Given the description of an element on the screen output the (x, y) to click on. 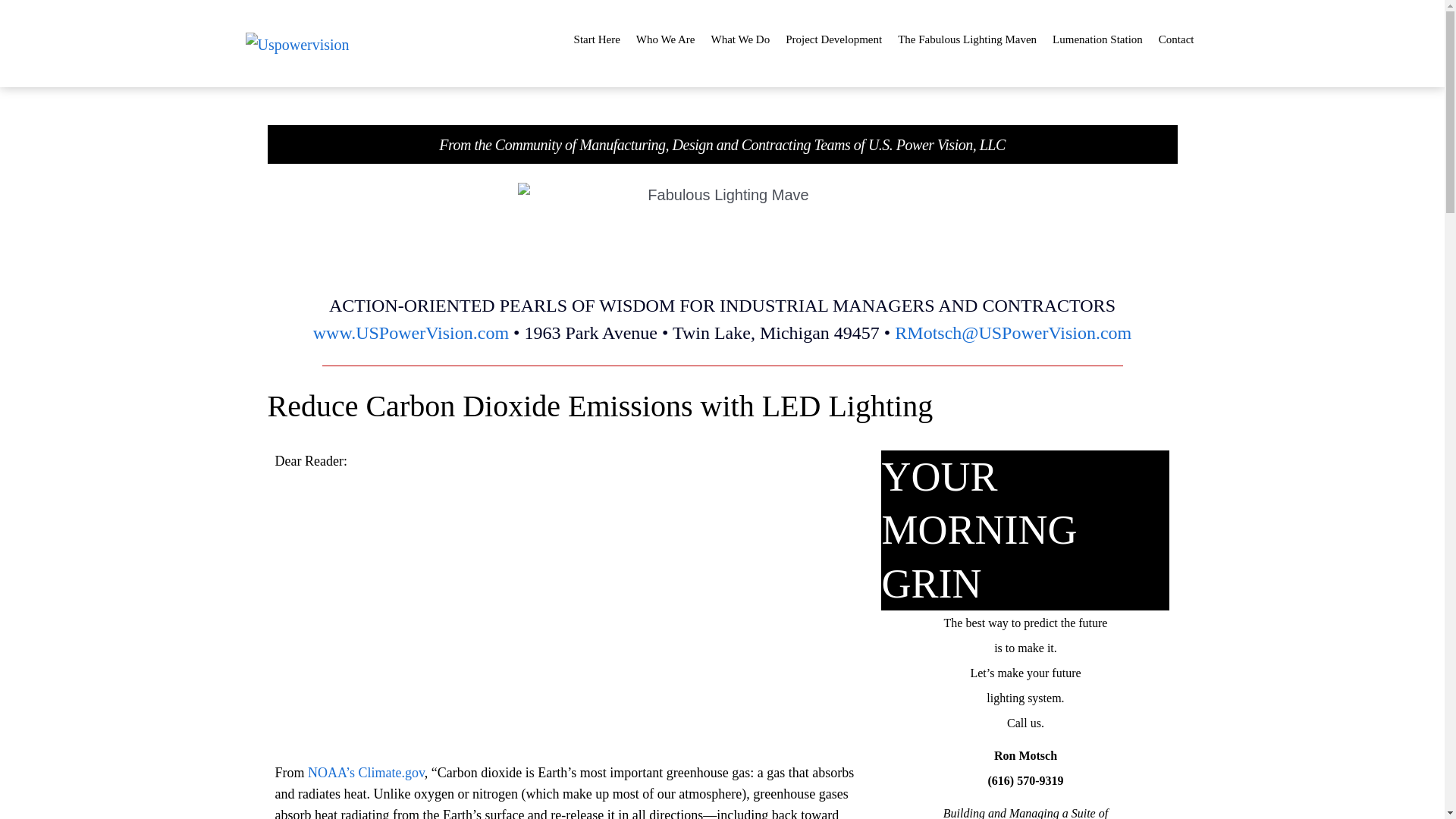
Who We Are (665, 39)
Project Development (833, 39)
What We Do (739, 39)
Lumenation Station (1097, 39)
Contact (1176, 39)
Start Here (597, 39)
The Fabulous Lighting Maven (967, 39)
www.USPowerVision.com (410, 332)
